Given the description of an element on the screen output the (x, y) to click on. 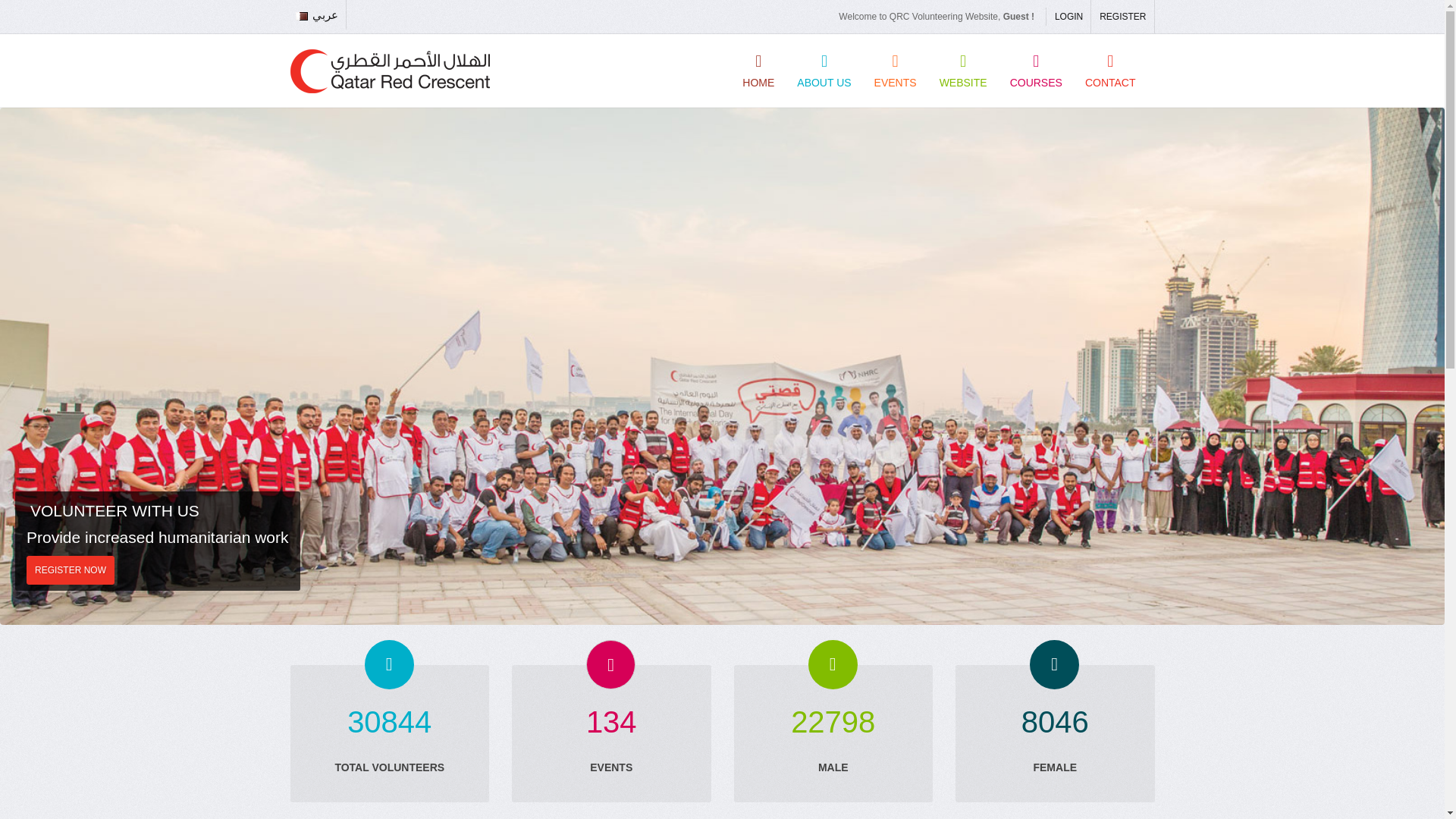
LOGIN (1068, 16)
COURSES (1036, 70)
REGISTER (1122, 16)
CONTACT (1109, 70)
ABOUT US (824, 70)
